Given the description of an element on the screen output the (x, y) to click on. 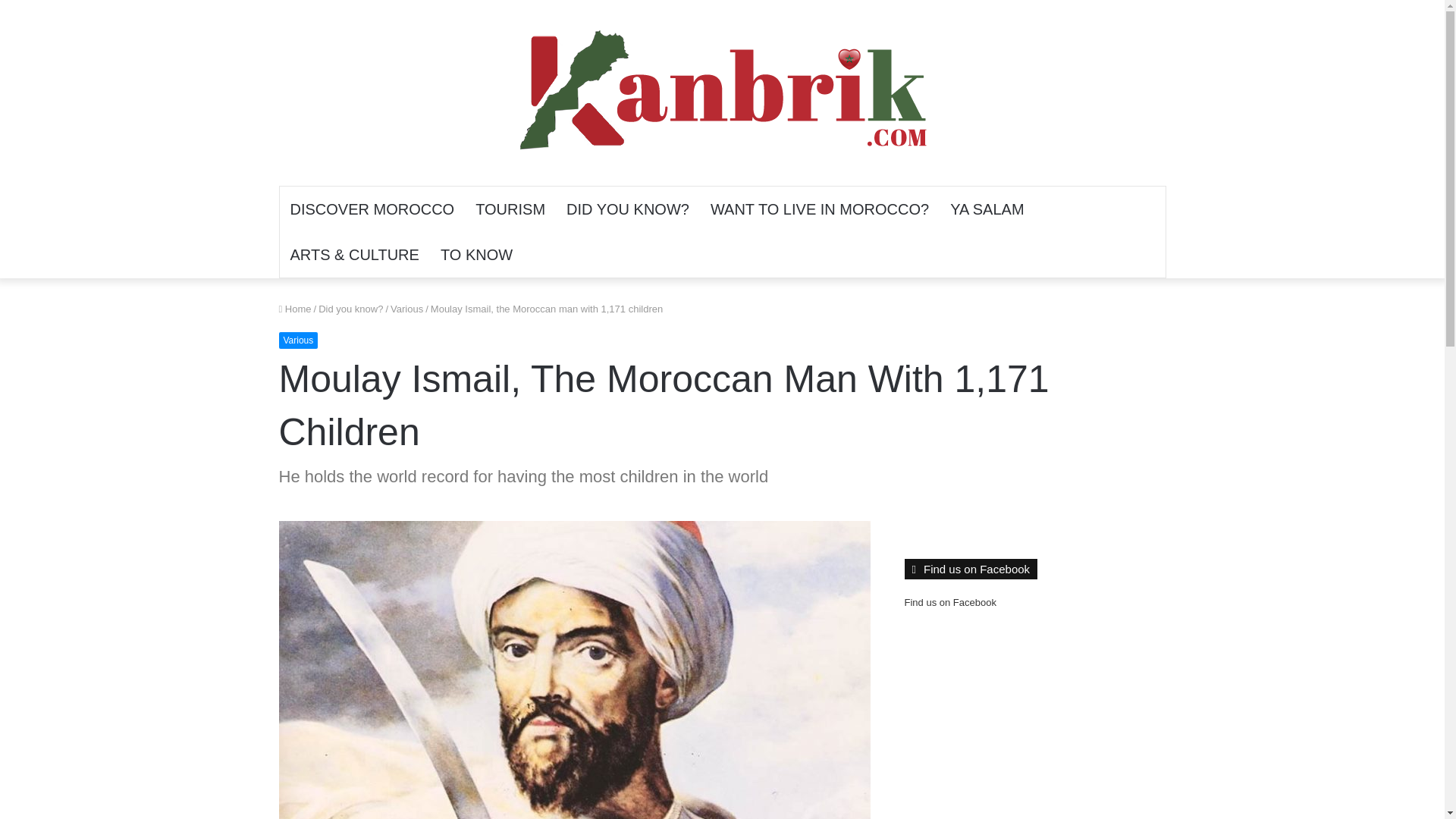
Various (298, 340)
YA SALAM (986, 208)
Home (295, 308)
TO KNOW (475, 254)
WANT TO LIVE IN MOROCCO? (819, 208)
Kanbrik.com (722, 92)
DID YOU KNOW? (628, 208)
Various (406, 308)
Did you know? (350, 308)
DISCOVER MOROCCO (371, 208)
TOURISM (510, 208)
Find us on Facebook (949, 602)
